Given the description of an element on the screen output the (x, y) to click on. 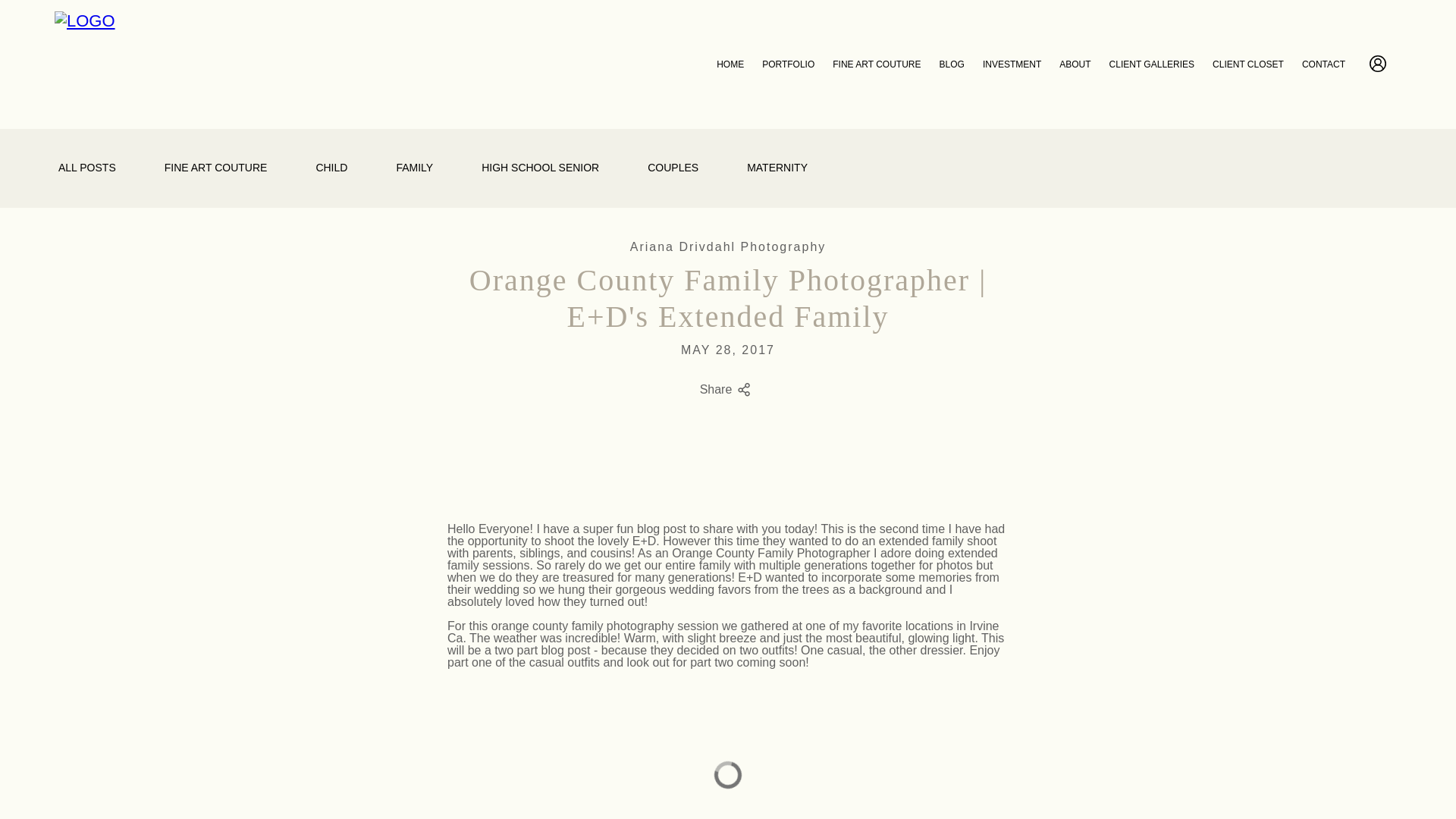
CLIENT CLOSET (1248, 63)
FAMILY (414, 167)
MATERNITY (777, 167)
HOME (730, 63)
FINE ART COUTURE (215, 167)
CLIENT GALLERIES (1152, 63)
BLOG (951, 63)
INVESTMENT (1011, 63)
HIGH SCHOOL SENIOR (539, 167)
ABOUT (1074, 63)
